Given the description of an element on the screen output the (x, y) to click on. 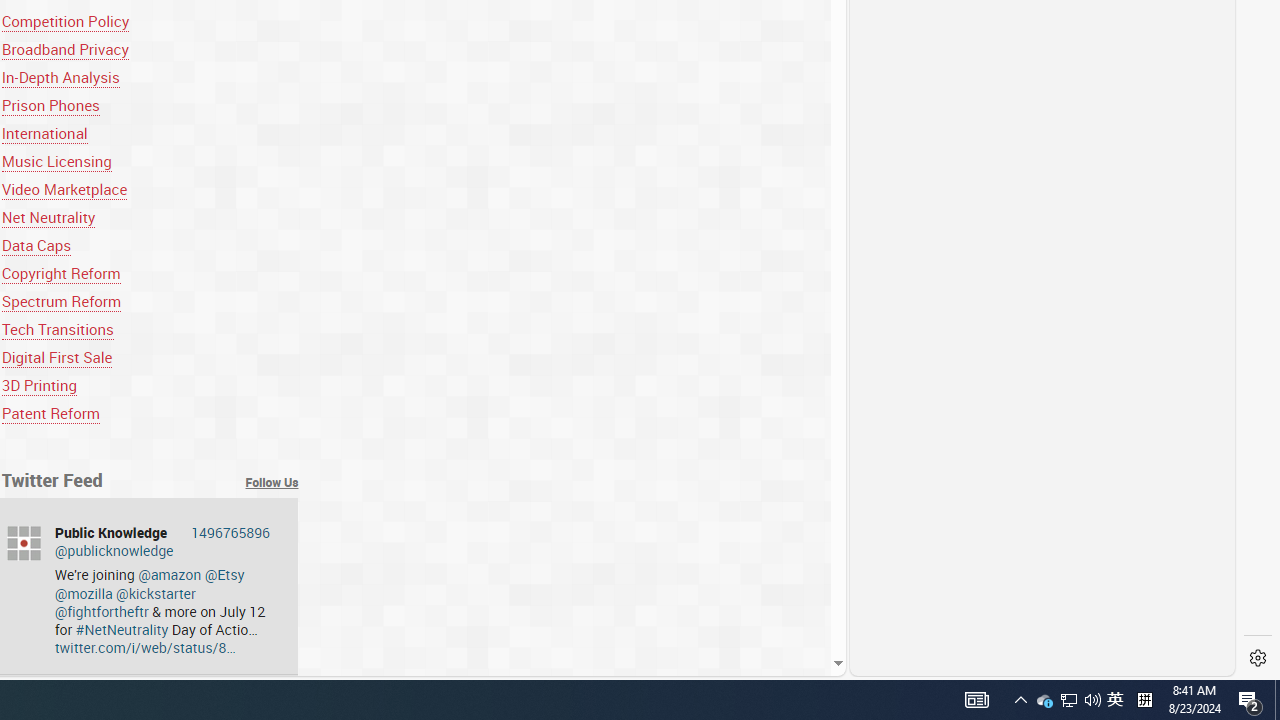
Broadband Privacy (65, 48)
In-Depth Analysis (150, 76)
1496765896 (230, 532)
3D Printing (150, 385)
Net Neutrality (150, 217)
Patent Reform (50, 413)
Public Knowledge @publicknowledge (162, 541)
Patent Reform (150, 413)
Net Neutrality (48, 217)
Digital First Sale (56, 357)
In-Depth Analysis (60, 76)
Data Caps (36, 245)
#NetNeutrality (121, 629)
publicknowledge (24, 543)
